Given the description of an element on the screen output the (x, y) to click on. 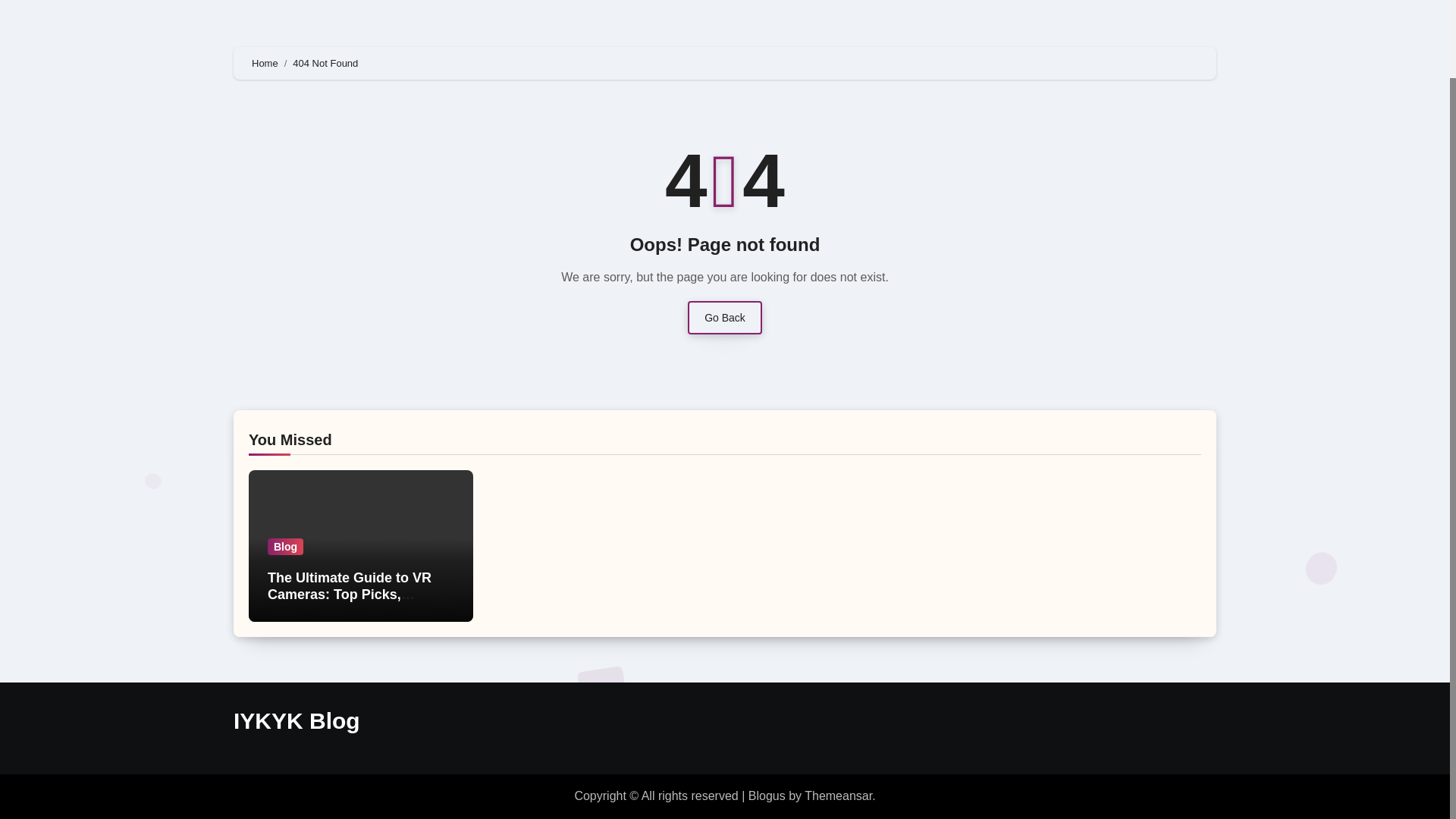
Home (264, 62)
Blogus (767, 795)
IYKYK Blog (295, 720)
Blog (284, 546)
Themeansar (838, 795)
Go Back (724, 317)
